Given the description of an element on the screen output the (x, y) to click on. 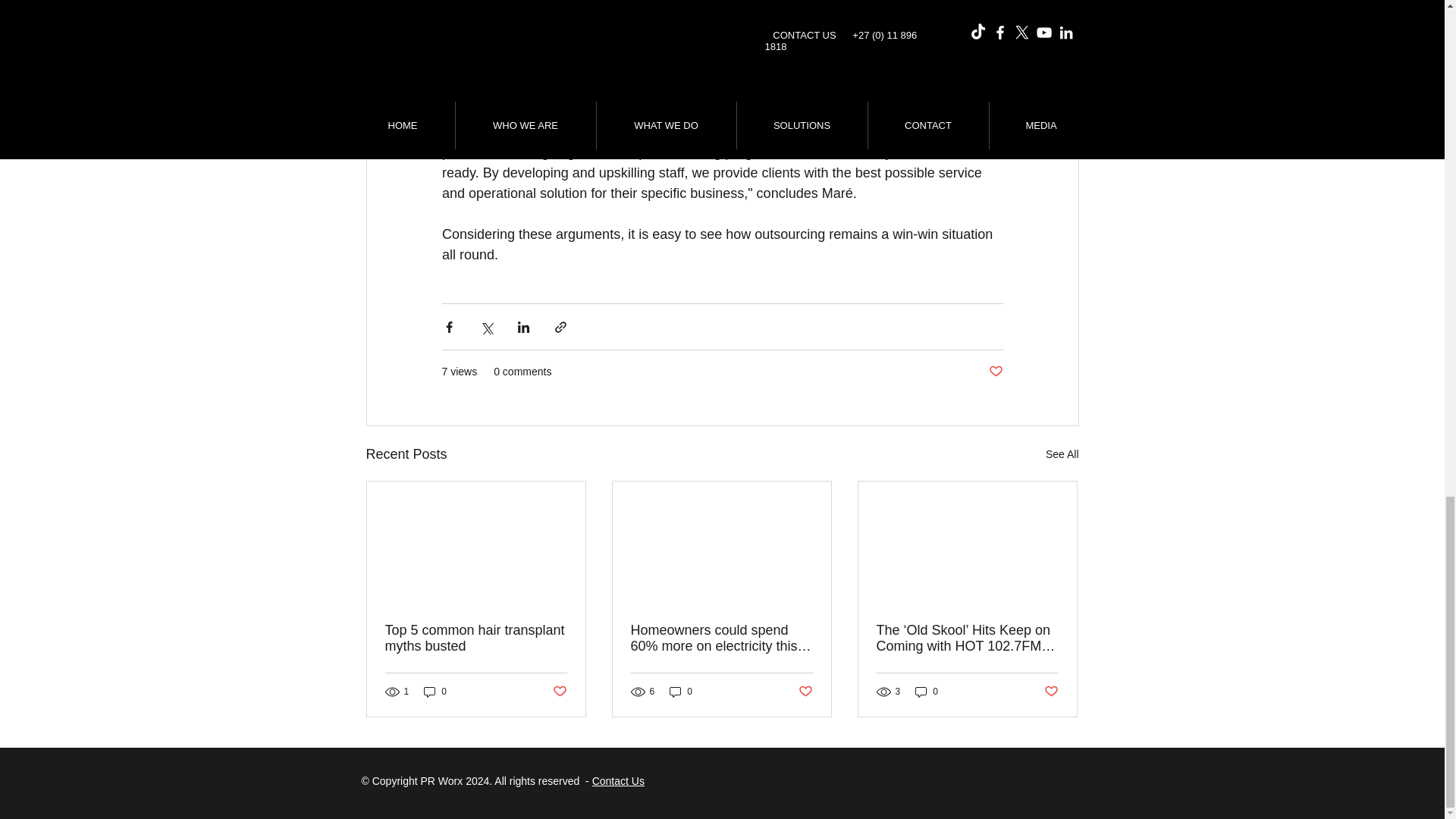
0 (926, 691)
Contact Us (618, 780)
Post not marked as liked (558, 691)
Post not marked as liked (1050, 691)
0 (681, 691)
Post not marked as liked (995, 371)
0 (435, 691)
See All (1061, 454)
Post not marked as liked (804, 691)
Top 5 common hair transplant myths busted (476, 638)
